Given the description of an element on the screen output the (x, y) to click on. 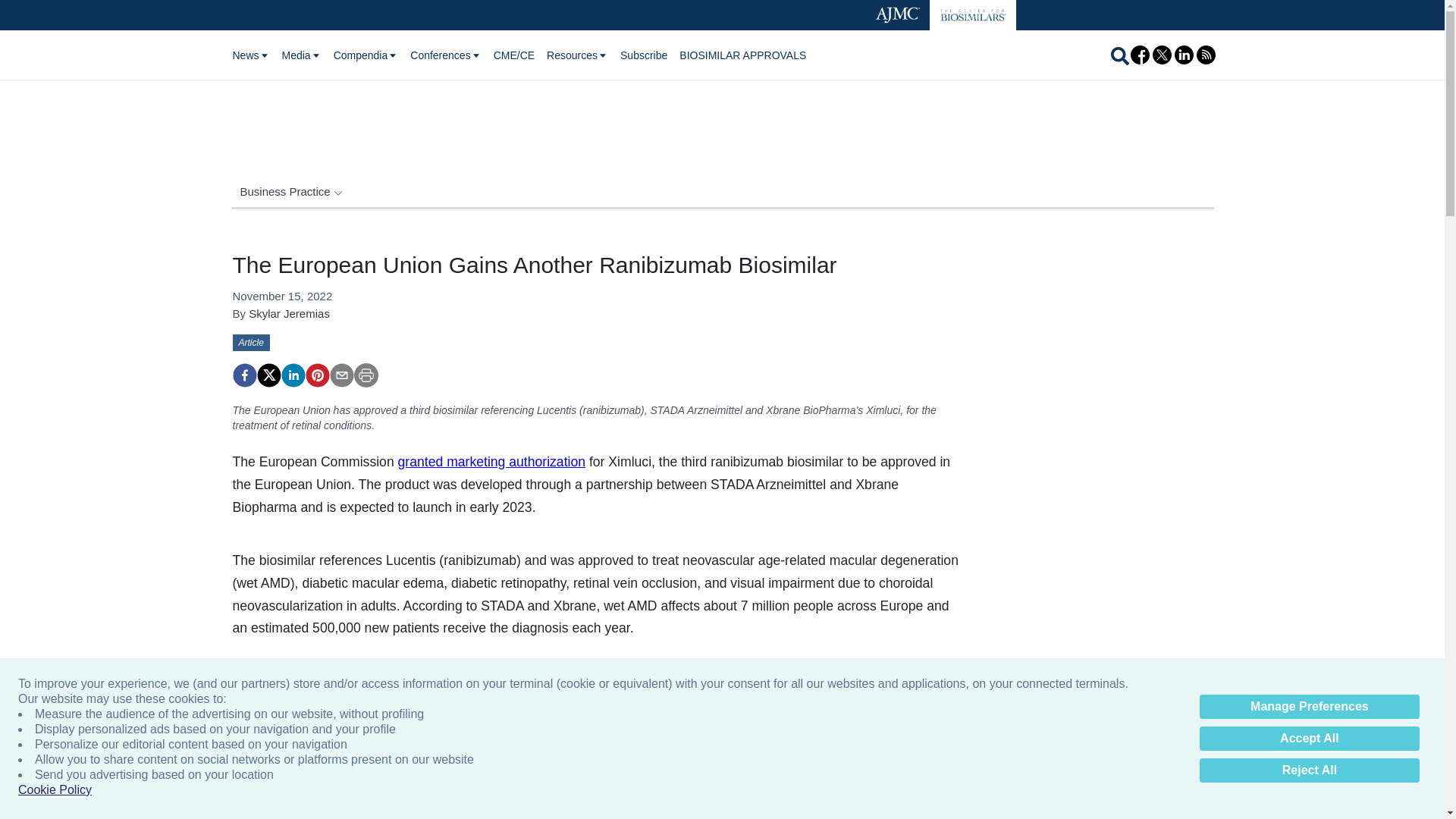
Reject All (1309, 769)
Cookie Policy (54, 789)
Manage Preferences (1309, 706)
Accept All (1309, 738)
The European Union Gains Another Ranibizumab Biosimilar (243, 375)
Subscribe (643, 54)
BIOSIMILAR APPROVALS (742, 54)
The European Union Gains Another Ranibizumab Biosimilar (316, 375)
